Given the description of an element on the screen output the (x, y) to click on. 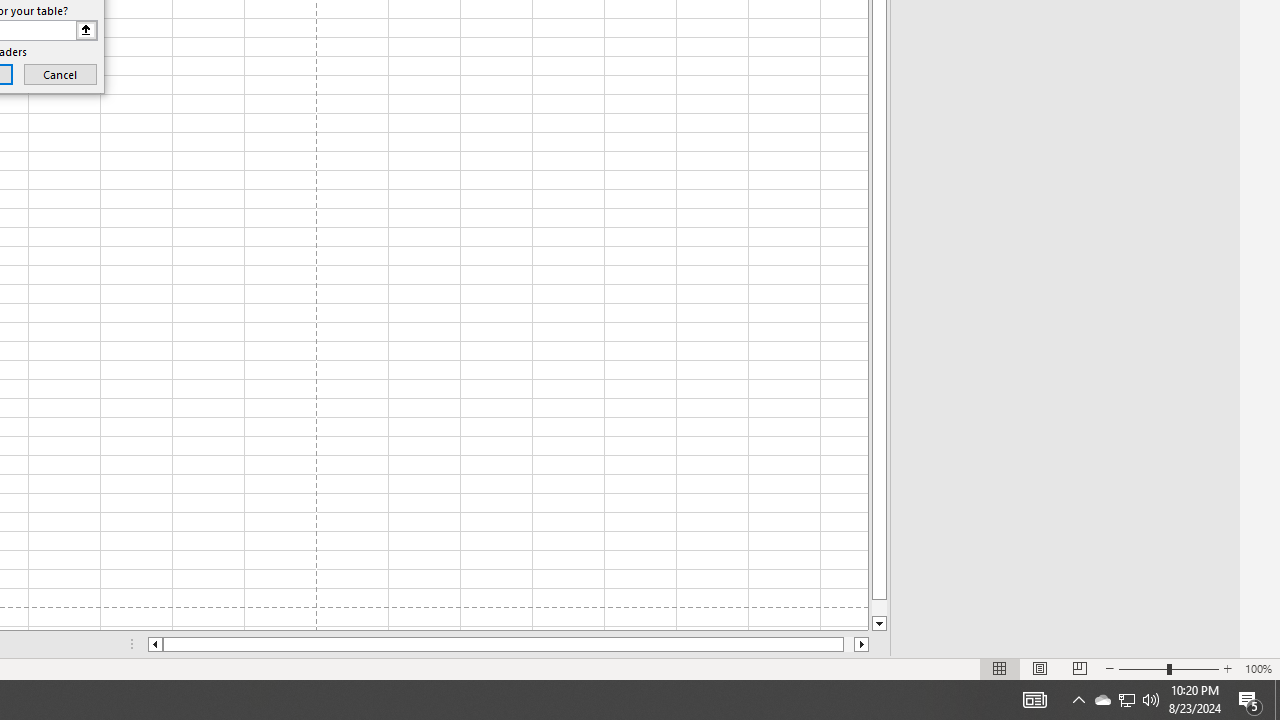
Column left (153, 644)
Page down (879, 607)
Zoom Out (1142, 668)
Column right (861, 644)
Class: NetUIScrollBar (507, 644)
Zoom In (1227, 668)
Zoom (1168, 668)
Normal (1000, 668)
Line down (879, 624)
Page Break Preview (1079, 668)
Page right (848, 644)
Page Layout (1039, 668)
